Given the description of an element on the screen output the (x, y) to click on. 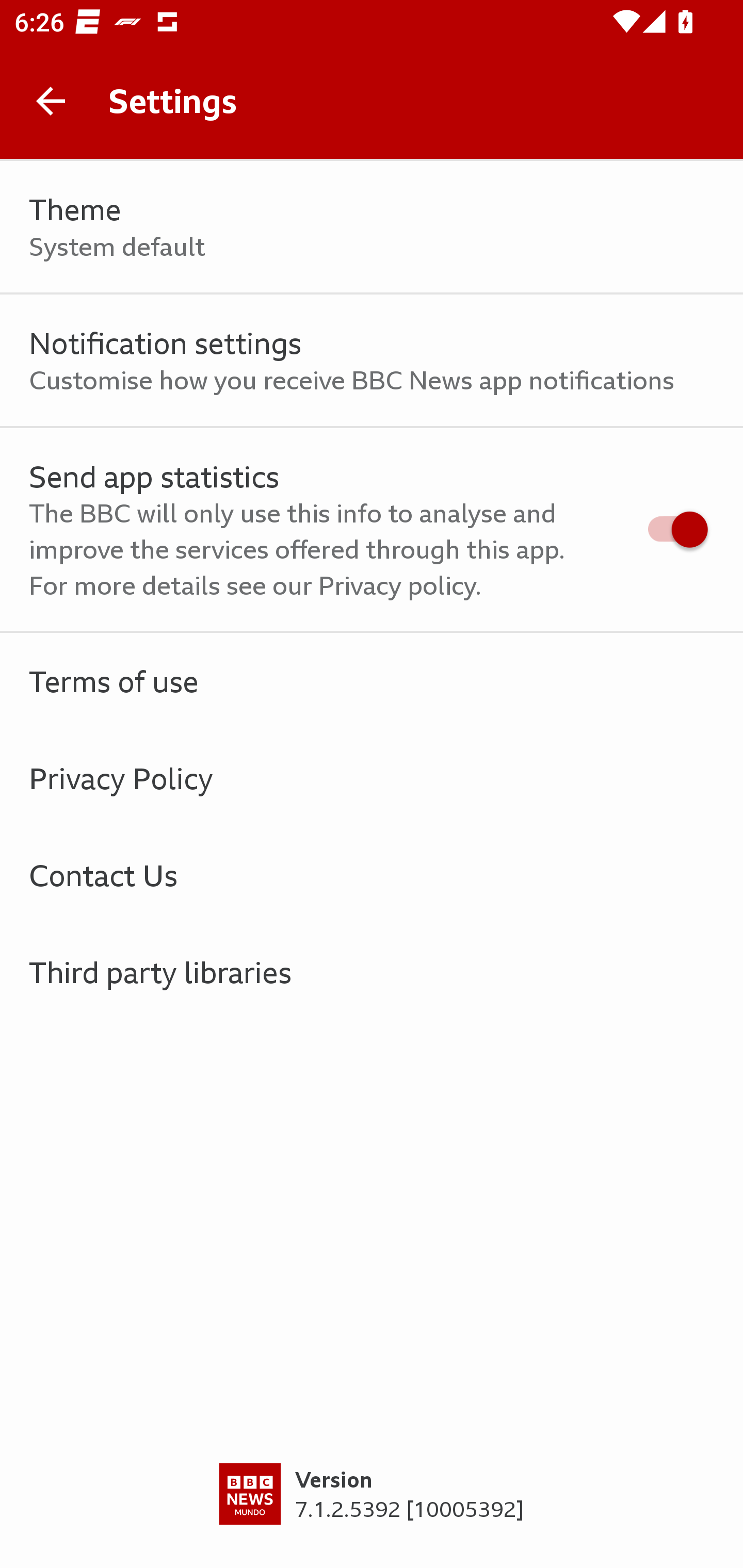
Back (50, 101)
Theme System default (371, 227)
Terms of use (371, 681)
Privacy Policy (371, 777)
Contact Us (371, 874)
Third party libraries (371, 971)
Version 7.1.2.5392 [10005392] (371, 1515)
